Given the description of an element on the screen output the (x, y) to click on. 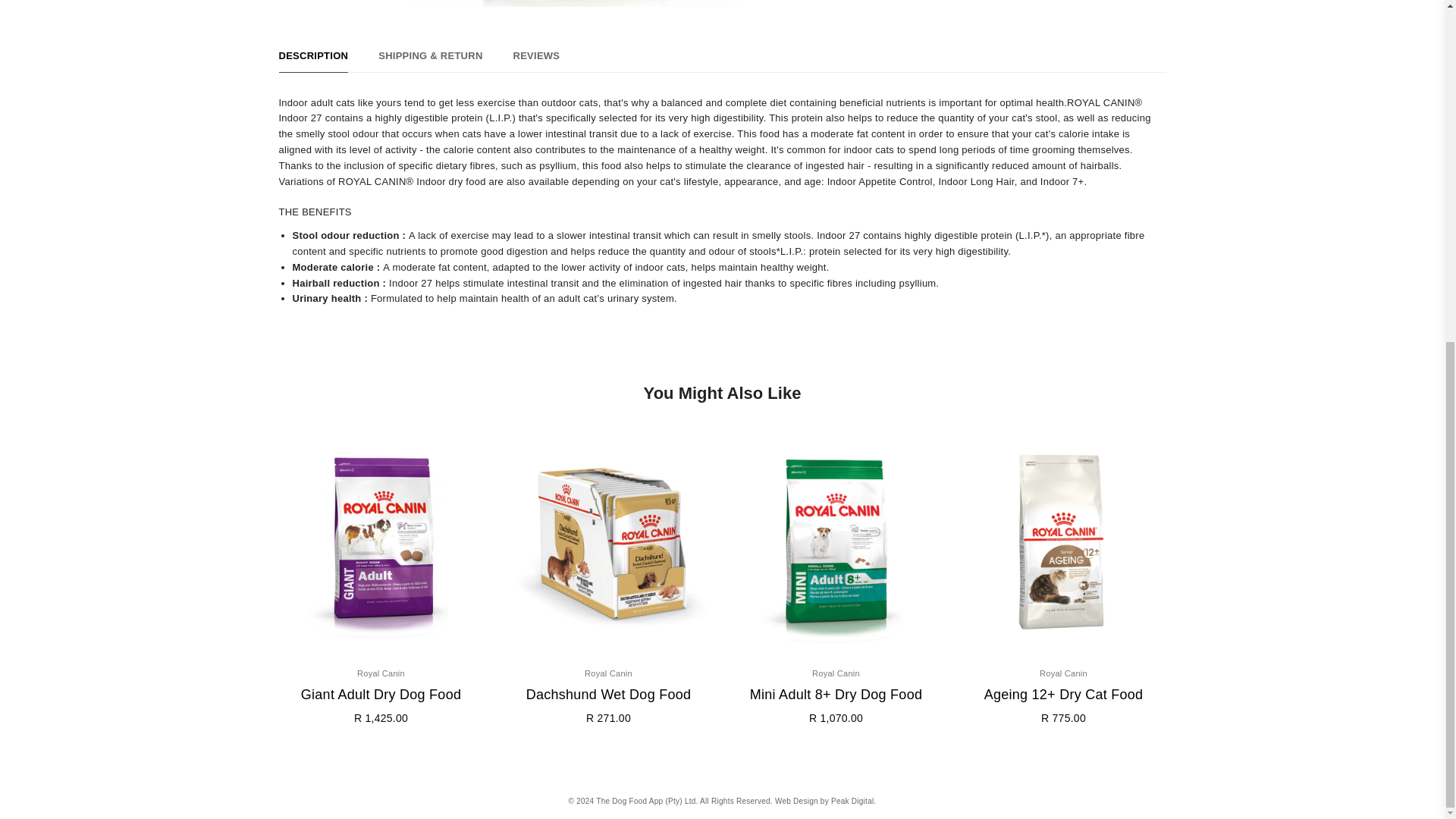
DESCRIPTION (314, 60)
Web Design by Peak Digital UK (825, 800)
REVIEWS (536, 60)
